Given the description of an element on the screen output the (x, y) to click on. 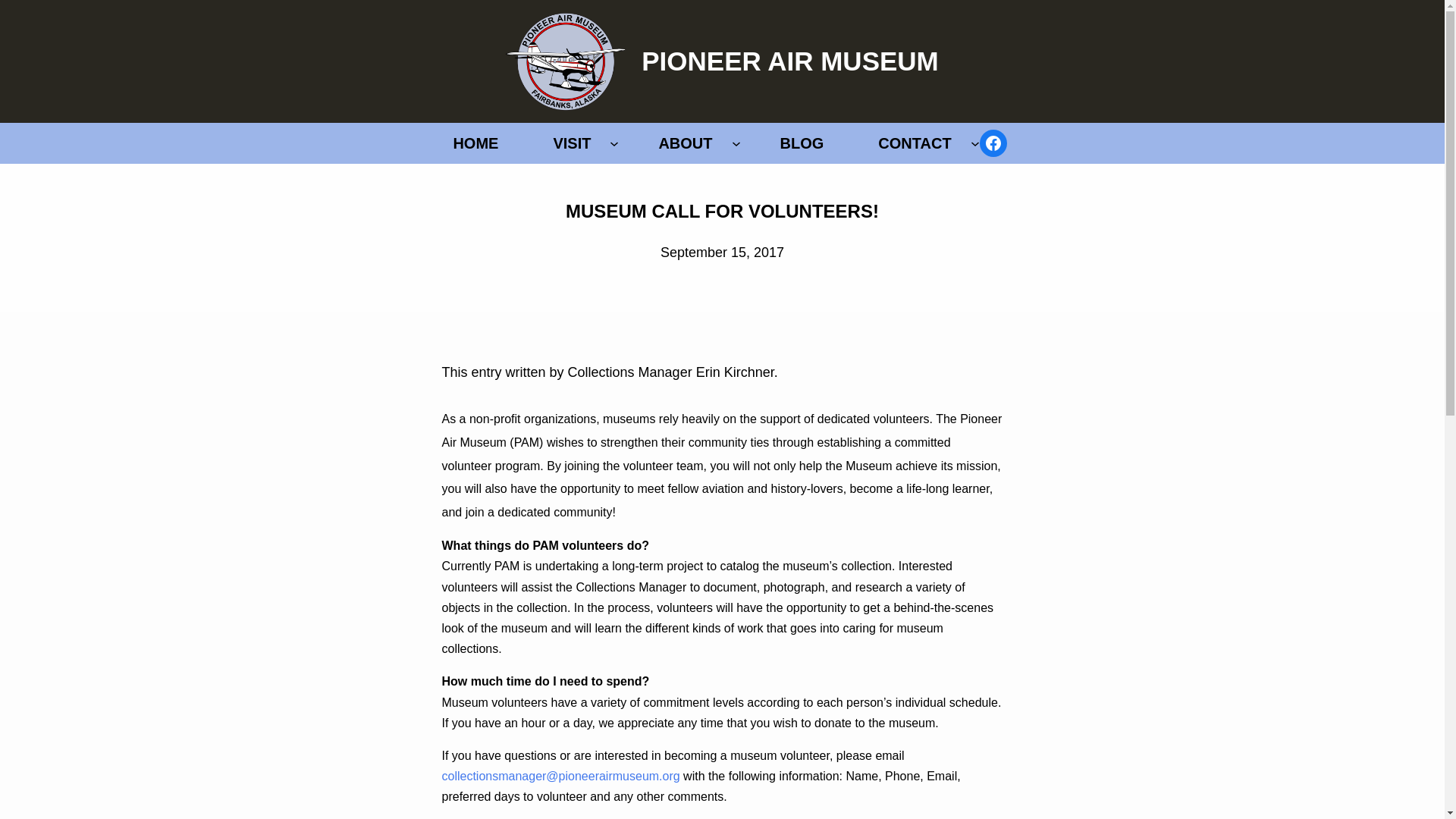
HOME (475, 142)
VISIT (571, 142)
ABOUT (684, 142)
CONTACT (914, 142)
PIONEER AIR MUSEUM (790, 60)
BLOG (802, 142)
Facebook (993, 143)
